Given the description of an element on the screen output the (x, y) to click on. 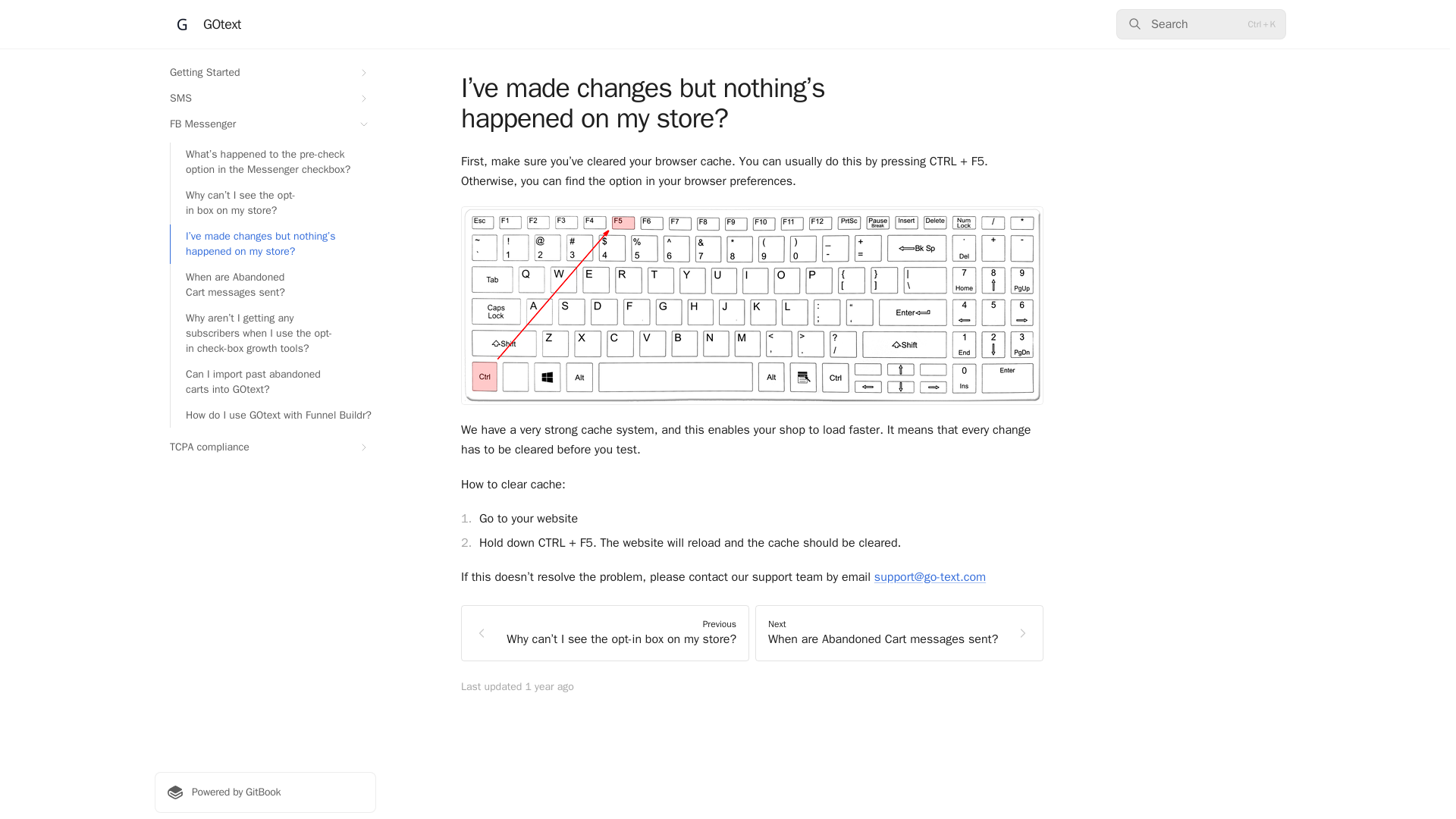
FB Messenger (264, 124)
When are Abandoned Cart messages sent? (272, 284)
Powered by GitBook (264, 792)
TCPA compliance (264, 446)
Can I import past abandoned carts into GOtext? (272, 382)
How do I use GOtext with Funnel Buildr? (272, 415)
SMS (264, 98)
Getting Started (264, 72)
GOtext (205, 24)
